Given the description of an element on the screen output the (x, y) to click on. 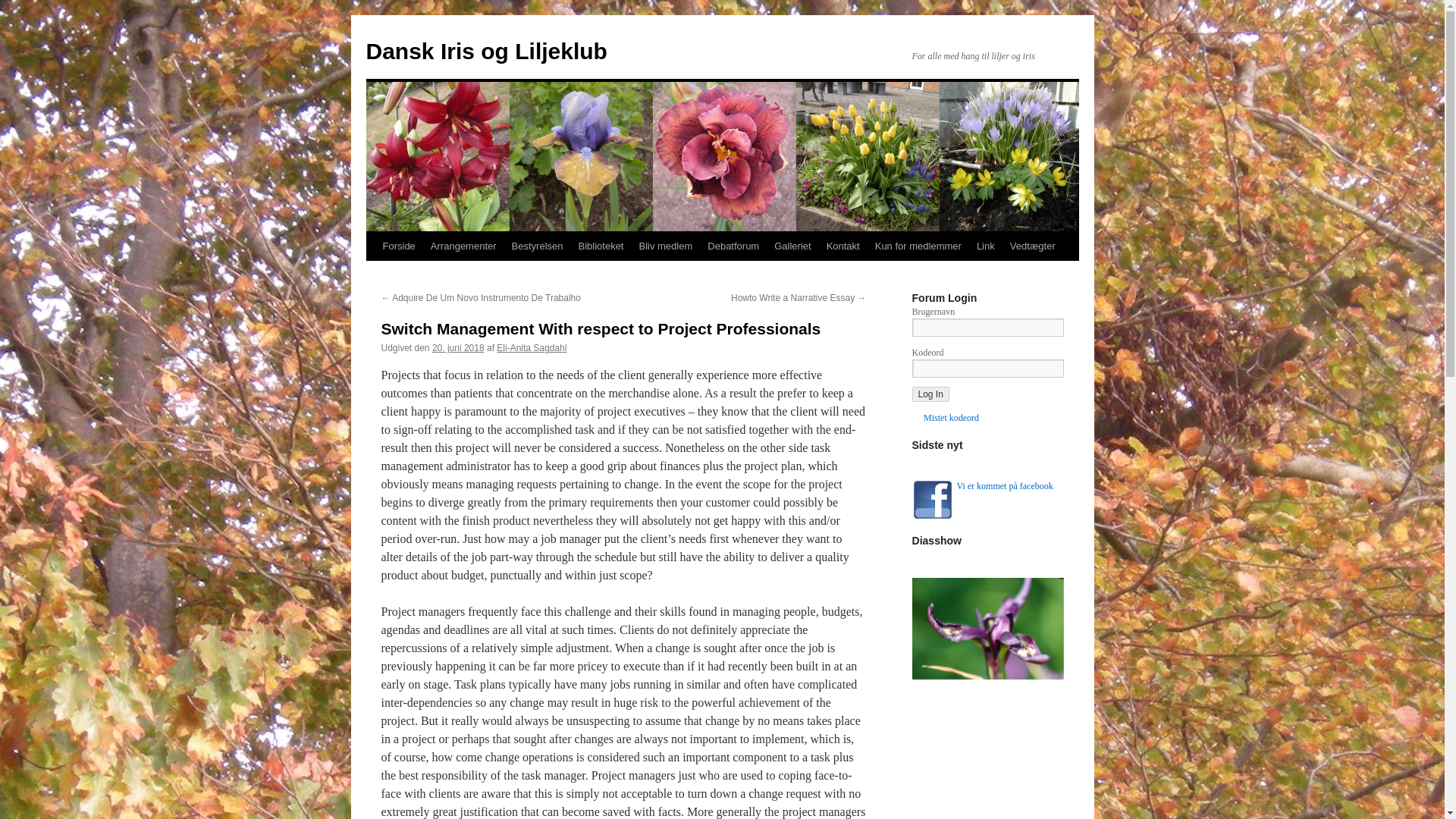
Galleriet (792, 246)
Forside (398, 246)
Bestyrelsen (536, 246)
Kontakt (842, 246)
Log In (930, 394)
Dansk Iris og Liljeklub (486, 50)
Arrangementer (463, 246)
Kun for medlemmer (918, 246)
Biblioteket (600, 246)
13:55 (458, 347)
Debatforum (733, 246)
Bliv medlem (665, 246)
Dansk Iris og Liljeklub (486, 50)
